Given the description of an element on the screen output the (x, y) to click on. 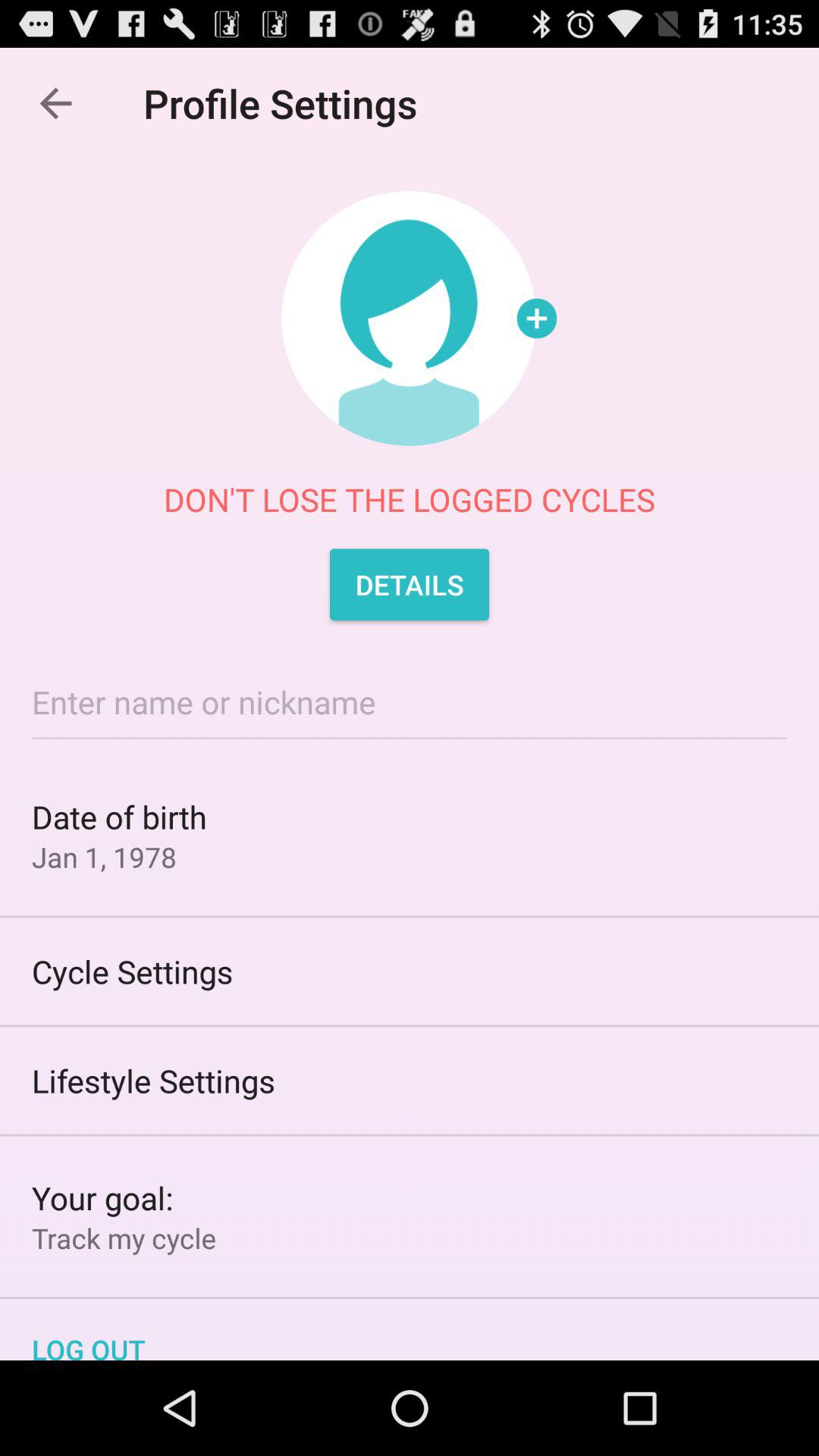
swipe to the lifestyle settings item (409, 1080)
